Given the description of an element on the screen output the (x, y) to click on. 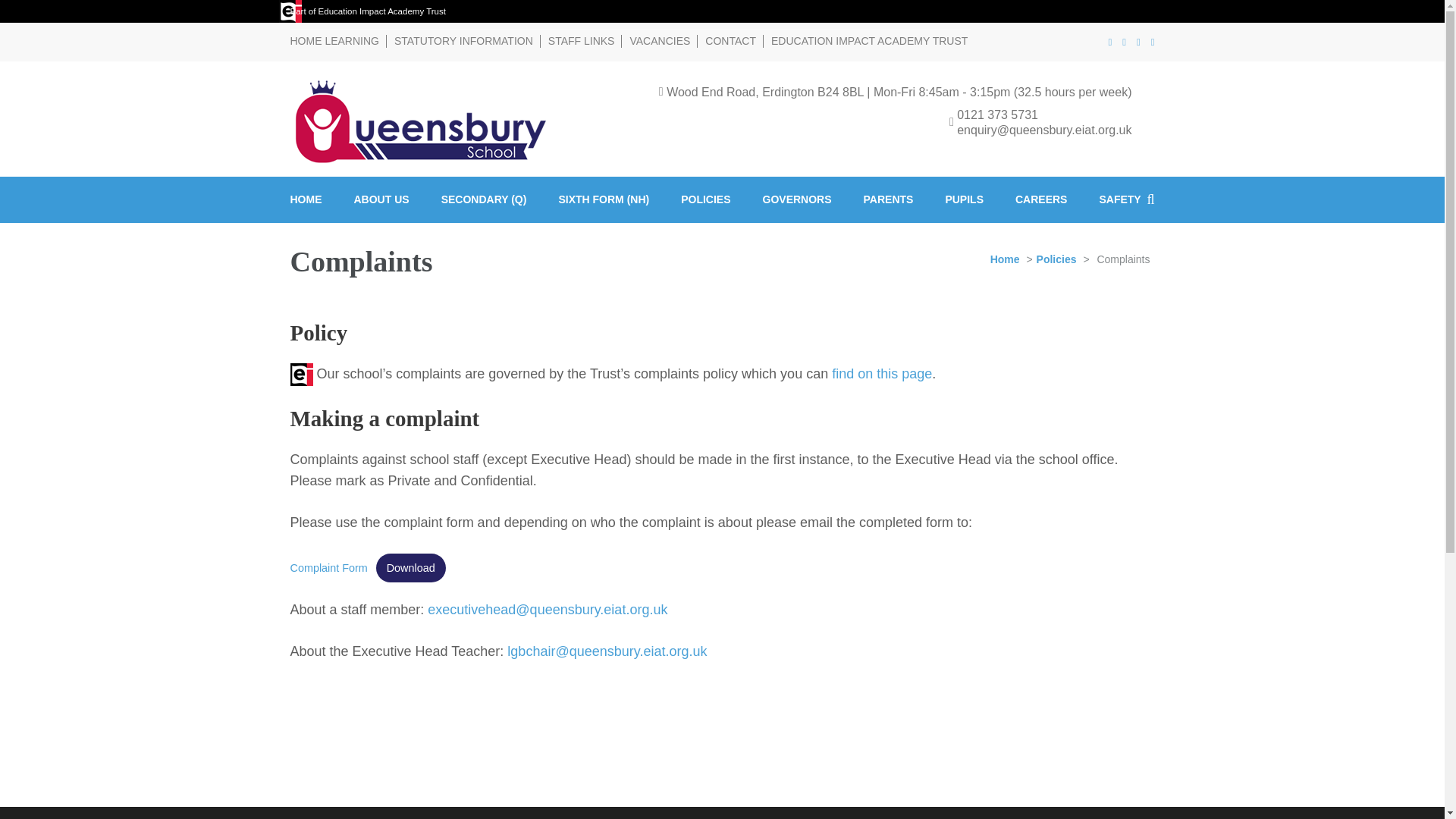
instagram (1152, 41)
Part of Education Impact Academy Trust (367, 10)
twitter (1123, 41)
facebook (1110, 41)
youtube (1138, 41)
